Given the description of an element on the screen output the (x, y) to click on. 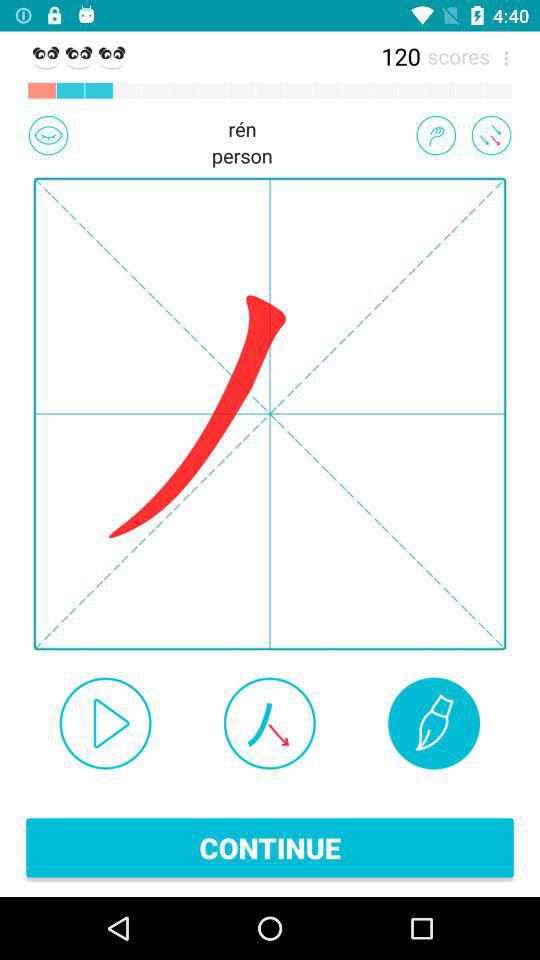
click the icon at the bottom left corner (105, 723)
